Given the description of an element on the screen output the (x, y) to click on. 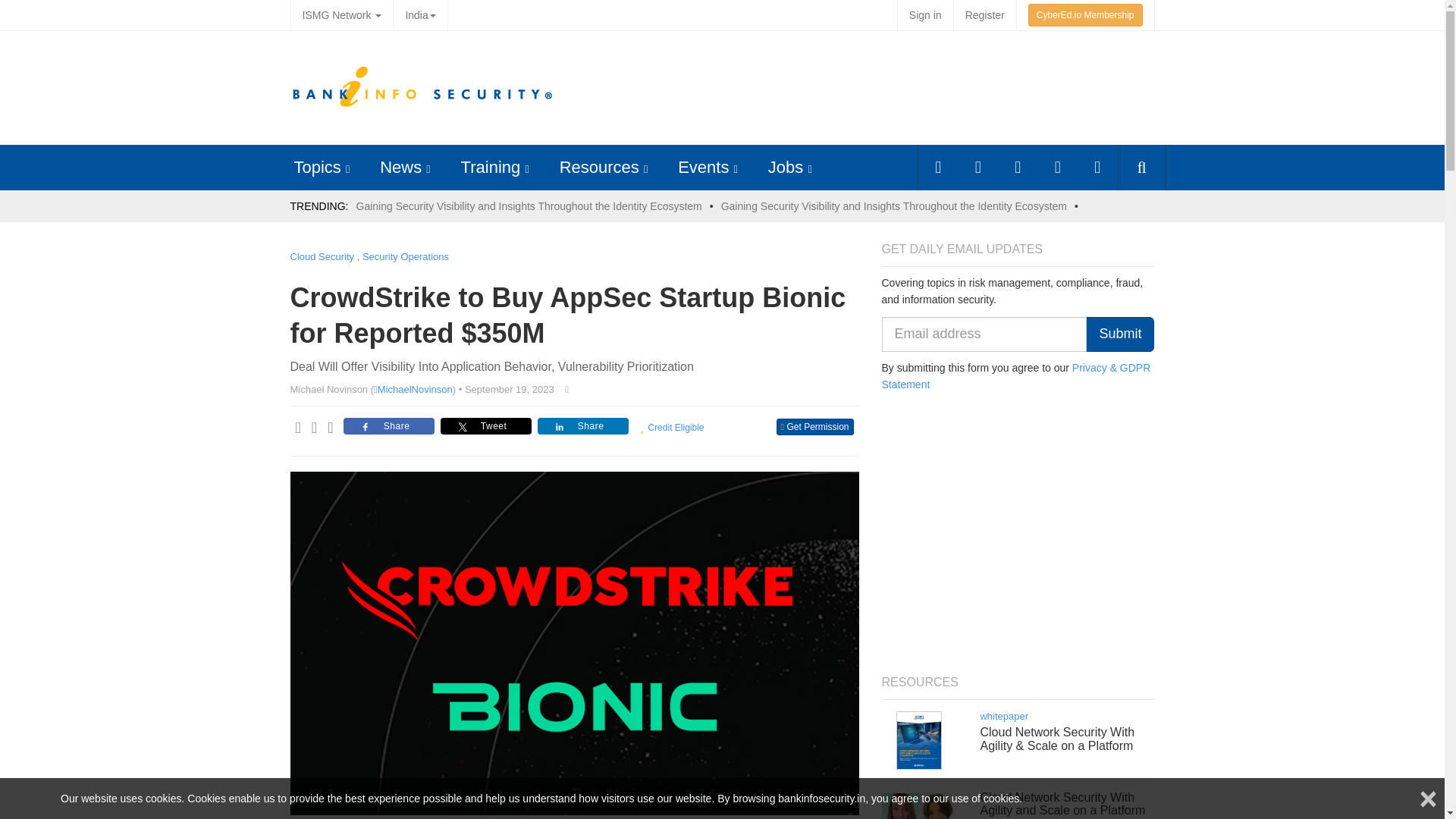
ISMG Network (341, 15)
Register (984, 15)
CyberEd.io Membership (1084, 15)
India (419, 15)
Topics (317, 167)
Sign in (925, 15)
3rd party ad content (873, 88)
